Given the description of an element on the screen output the (x, y) to click on. 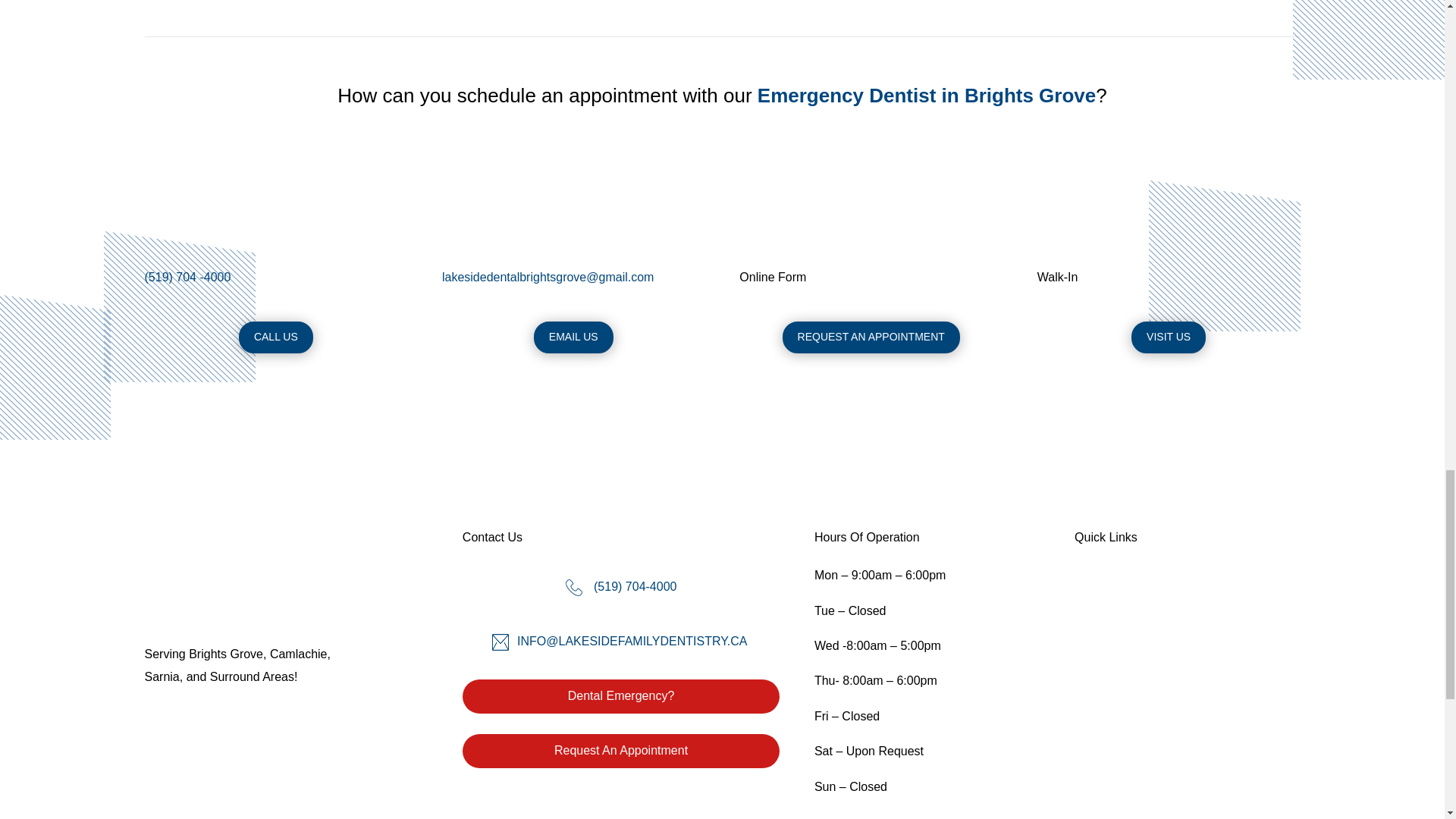
Lakeside Family Dental Logo White (256, 577)
Follow on X (1117, 752)
Follow on Facebook (1086, 752)
Follow on Instagram (1146, 752)
